Given the description of an element on the screen output the (x, y) to click on. 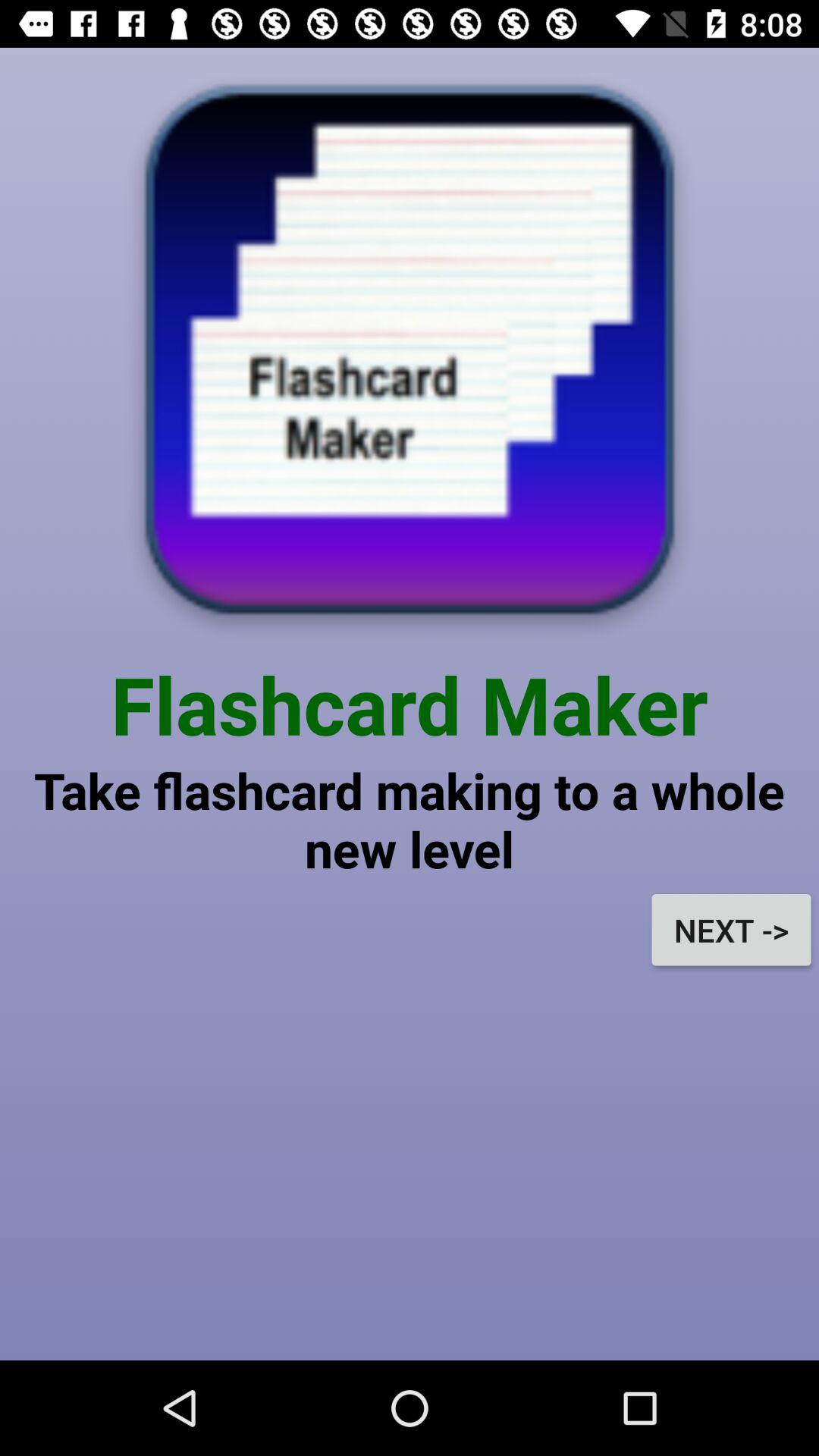
tap the next -> (731, 929)
